Given the description of an element on the screen output the (x, y) to click on. 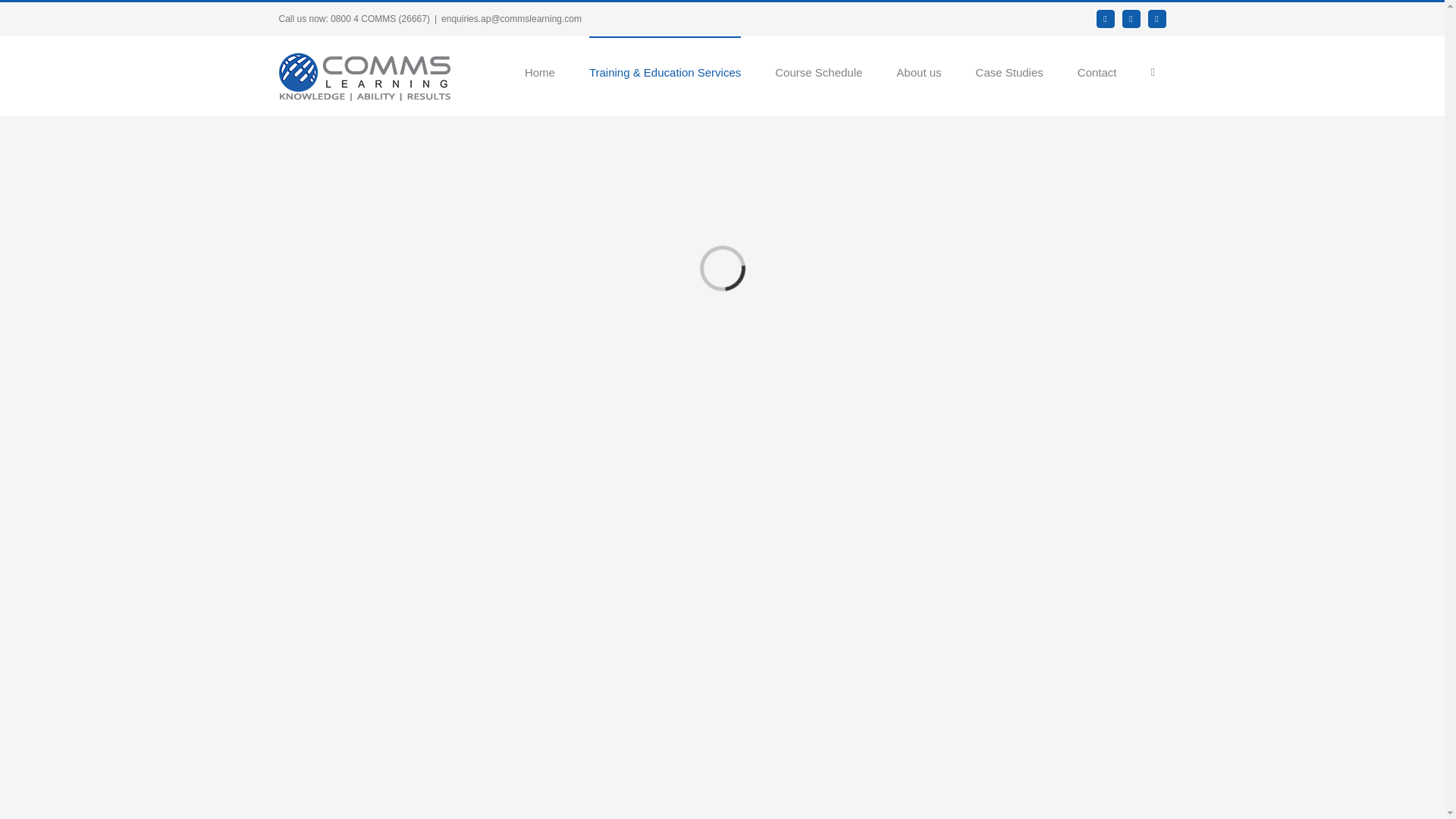
Course Schedule (817, 71)
Case Studies (1009, 71)
LinkedIn (1131, 18)
Twitter (1157, 18)
Facebook (1105, 18)
LinkedIn (1131, 18)
Facebook (1105, 18)
Twitter (1157, 18)
